Given the description of an element on the screen output the (x, y) to click on. 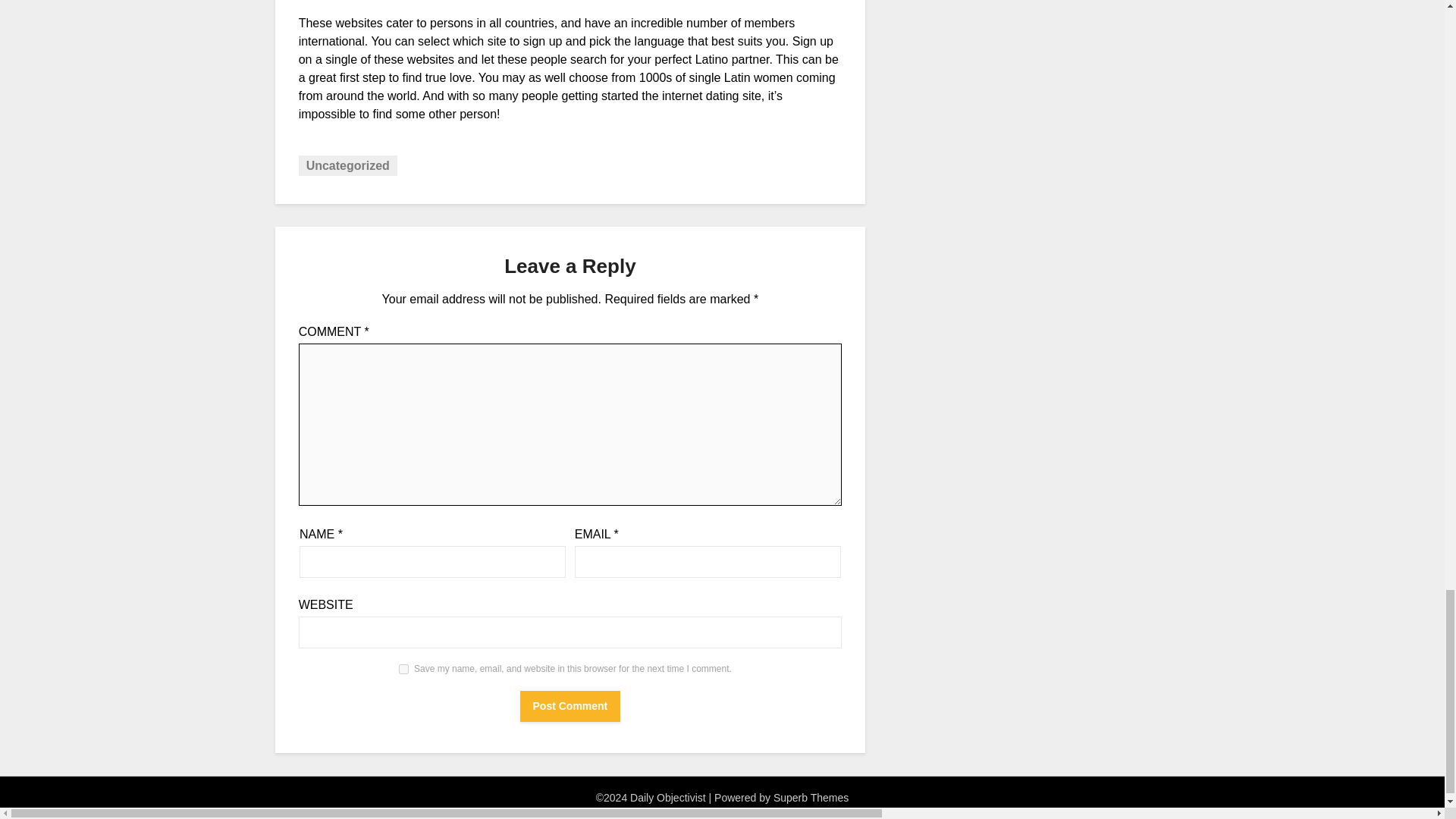
Uncategorized (347, 165)
Superb Themes (810, 797)
Post Comment (570, 706)
yes (403, 669)
Post Comment (570, 706)
